Given the description of an element on the screen output the (x, y) to click on. 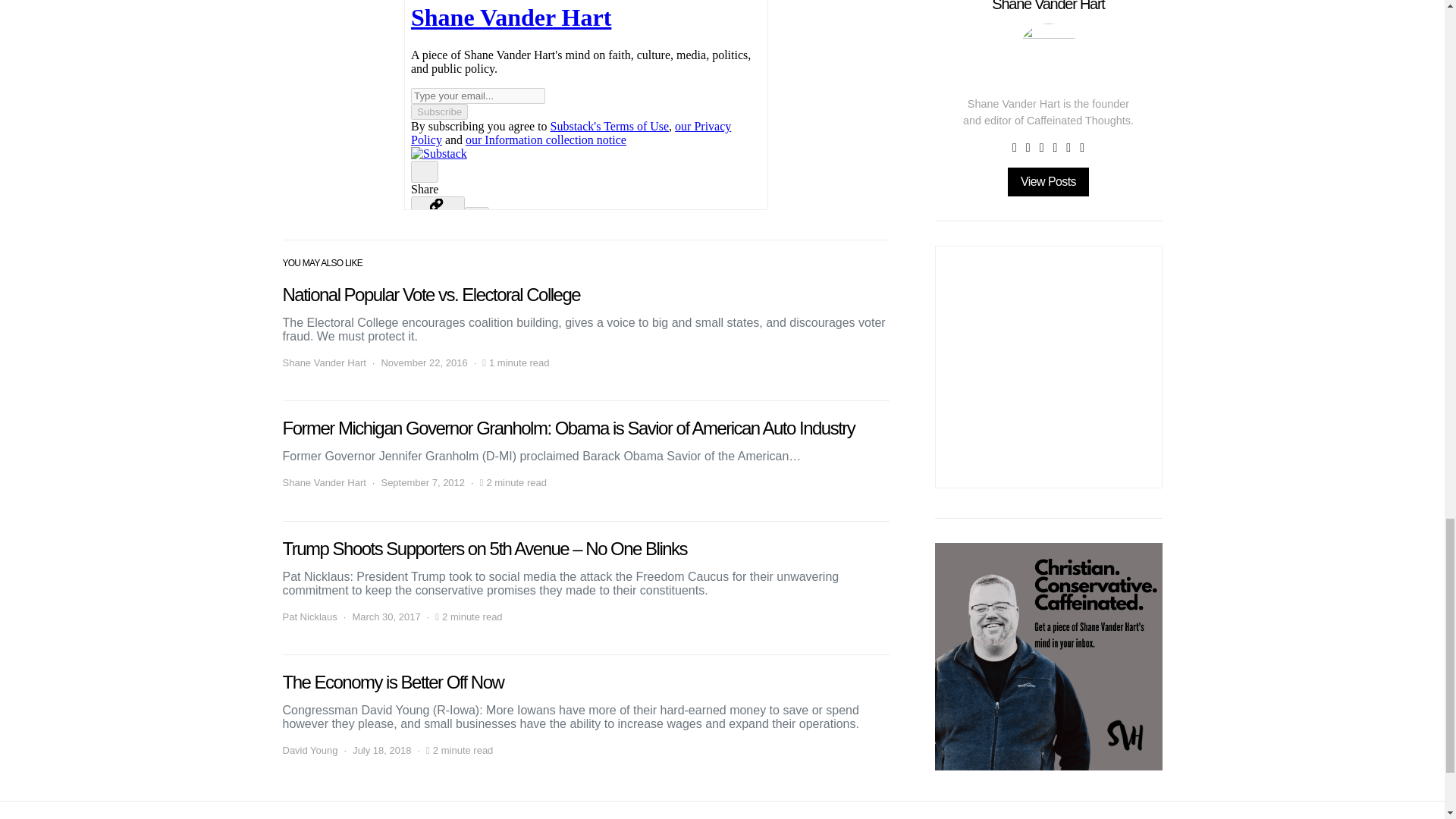
View all posts by Shane Vander Hart (323, 482)
View all posts by Pat Nicklaus (309, 616)
View all posts by Shane Vander Hart (323, 362)
View all posts by David Young (309, 750)
